Given the description of an element on the screen output the (x, y) to click on. 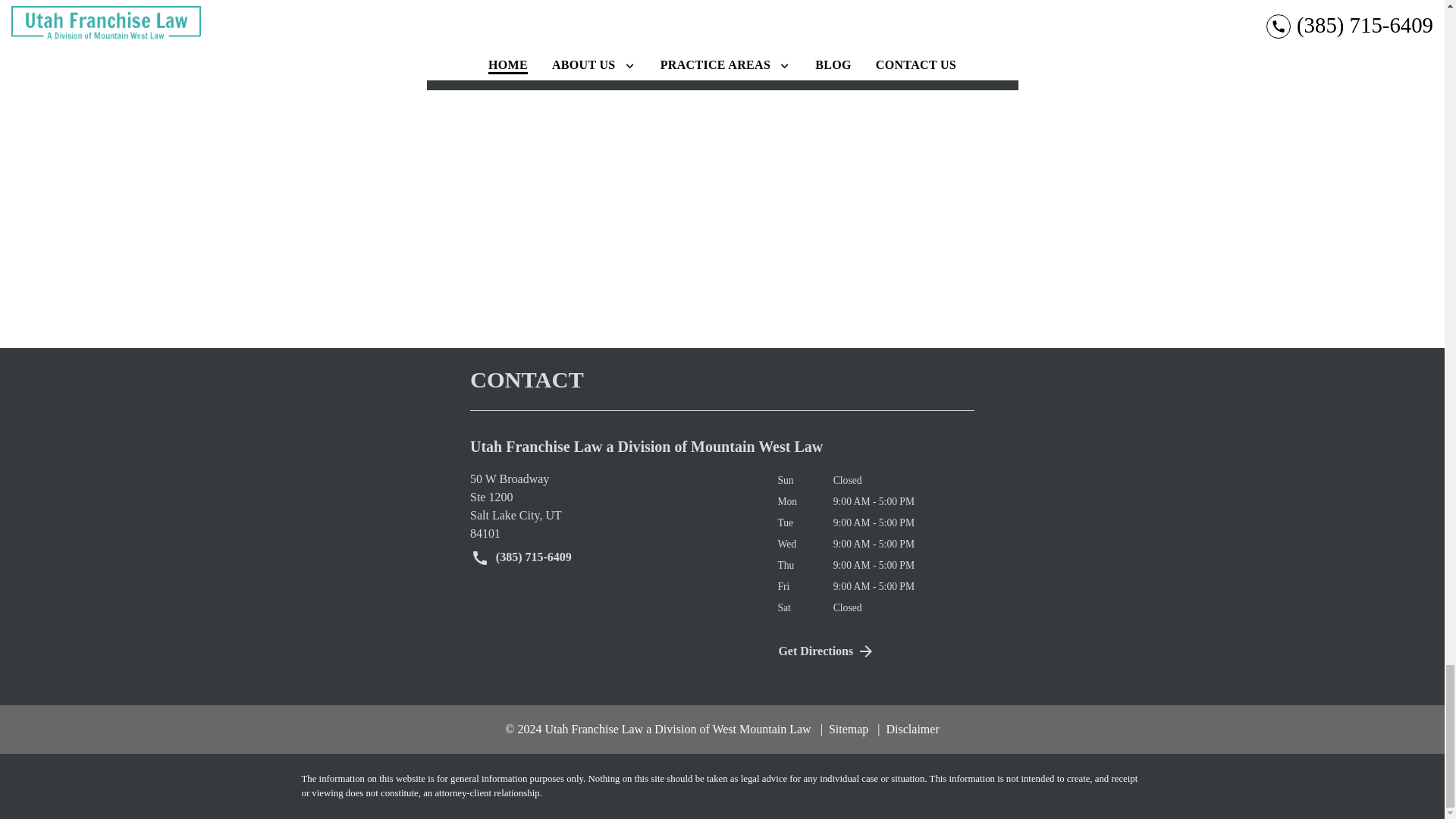
Sitemap (845, 728)
SUBMIT (924, 25)
Get Directions (612, 506)
Disclaimer (875, 651)
